Given the description of an element on the screen output the (x, y) to click on. 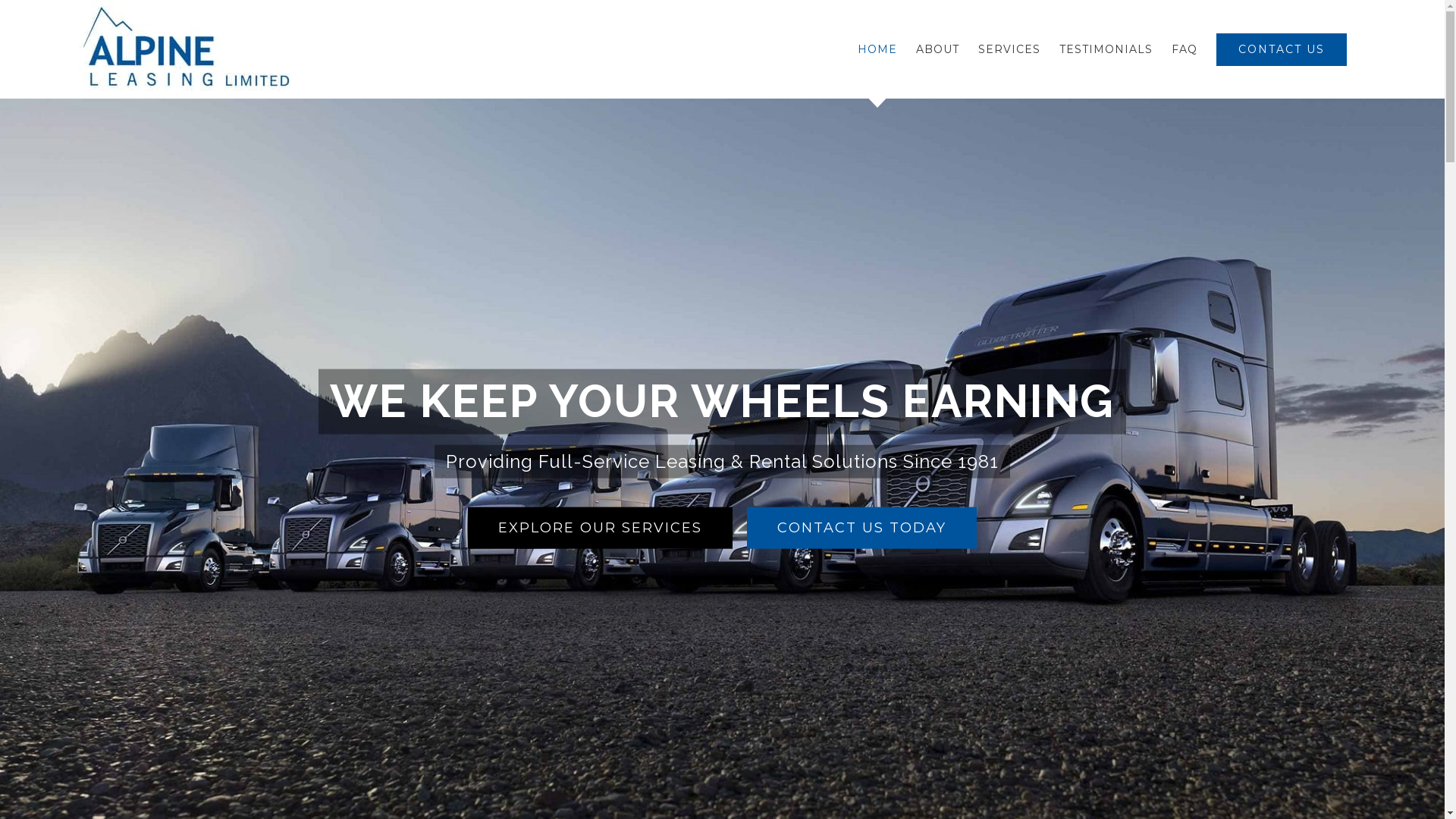
FAQ Element type: text (1184, 49)
EXPLORE OUR SERVICES Element type: text (599, 527)
SERVICES Element type: text (1009, 49)
CONTACT US TODAY Element type: text (861, 527)
HOME Element type: text (877, 49)
ABOUT Element type: text (937, 49)
CONTACT US Element type: text (1281, 49)
TESTIMONIALS Element type: text (1105, 49)
